Given the description of an element on the screen output the (x, y) to click on. 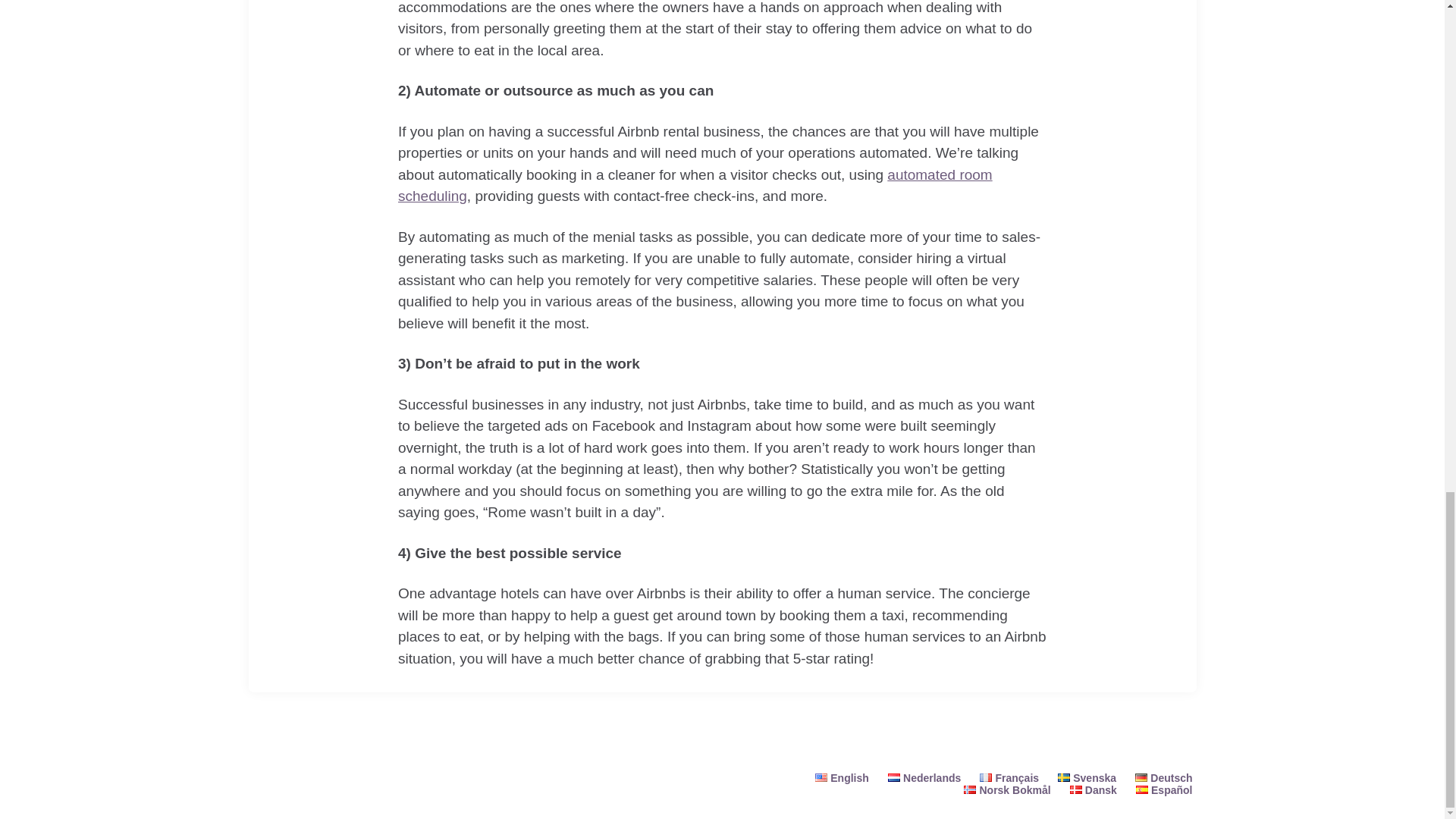
Dansk (1093, 789)
Deutsch (1163, 777)
Nederlands (924, 777)
automated room scheduling (694, 185)
English (842, 777)
Svenska (1087, 777)
